Given the description of an element on the screen output the (x, y) to click on. 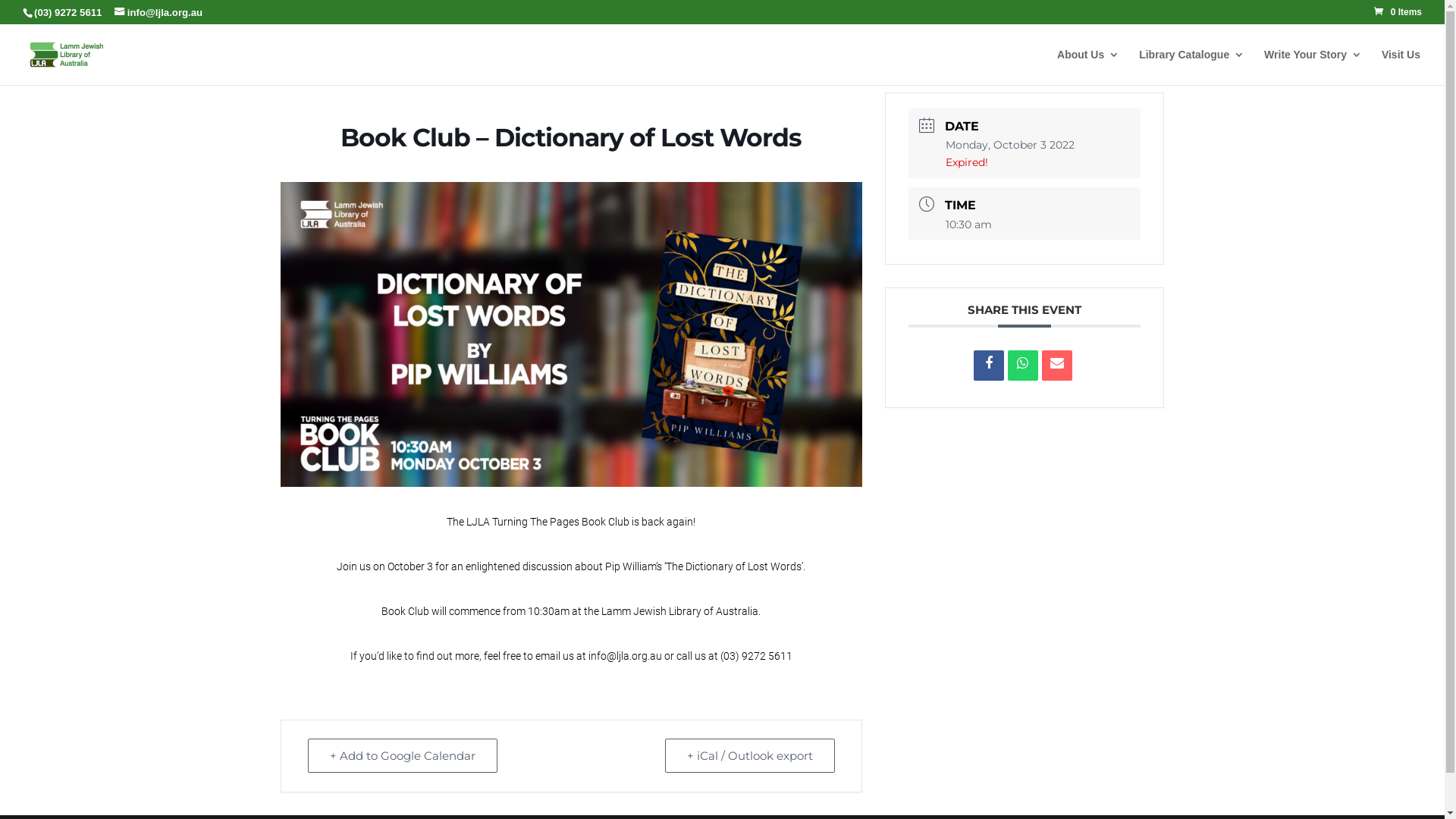
Share on WhatsApp Element type: hover (1022, 365)
info@ljla.org.au Element type: text (158, 12)
Email Element type: hover (1056, 365)
Library Catalogue Element type: text (1191, 66)
+ iCal / Outlook export Element type: text (749, 755)
Write Your Story Element type: text (1312, 66)
Visit Us Element type: text (1400, 66)
Share on Facebook Element type: hover (988, 365)
About Us Element type: text (1088, 66)
+ Add to Google Calendar Element type: text (402, 755)
0 Items Element type: text (1397, 11)
